Given the description of an element on the screen output the (x, y) to click on. 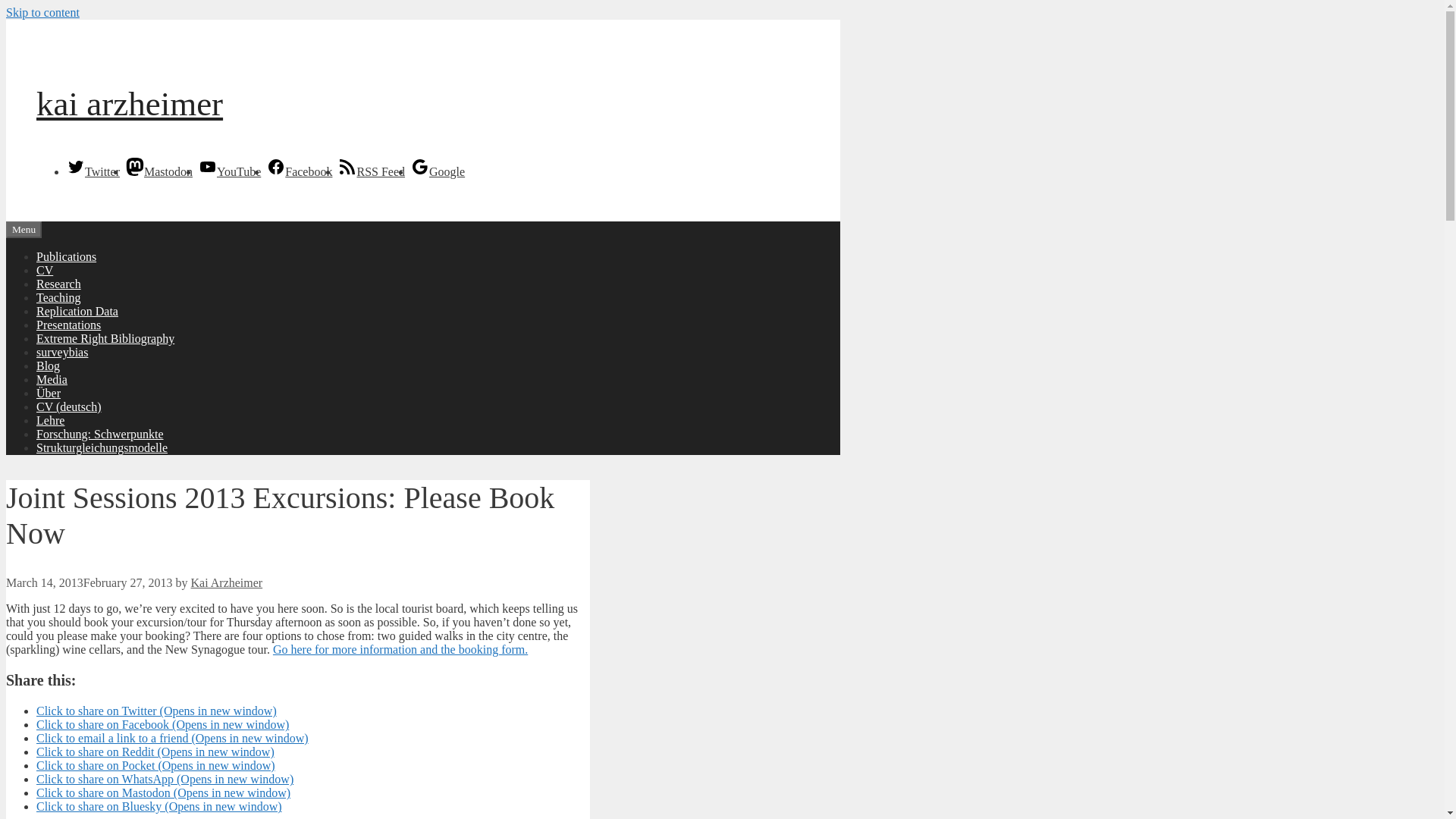
Extreme Right Bibliography (105, 338)
View all posts by Kai Arzheimer (226, 582)
Click to share on Pocket (155, 765)
Go here for more information and the booking form. (400, 649)
Menu (23, 229)
Click to share on Reddit (155, 751)
Research (58, 283)
YouTube (229, 171)
CV (44, 269)
Skip to content (42, 11)
Forschung: Schwerpunkte (99, 433)
RSS Feed (370, 171)
Click to email a link to a friend (172, 738)
Kai Arzheimer (226, 582)
Click to share on Mastodon (162, 792)
